Given the description of an element on the screen output the (x, y) to click on. 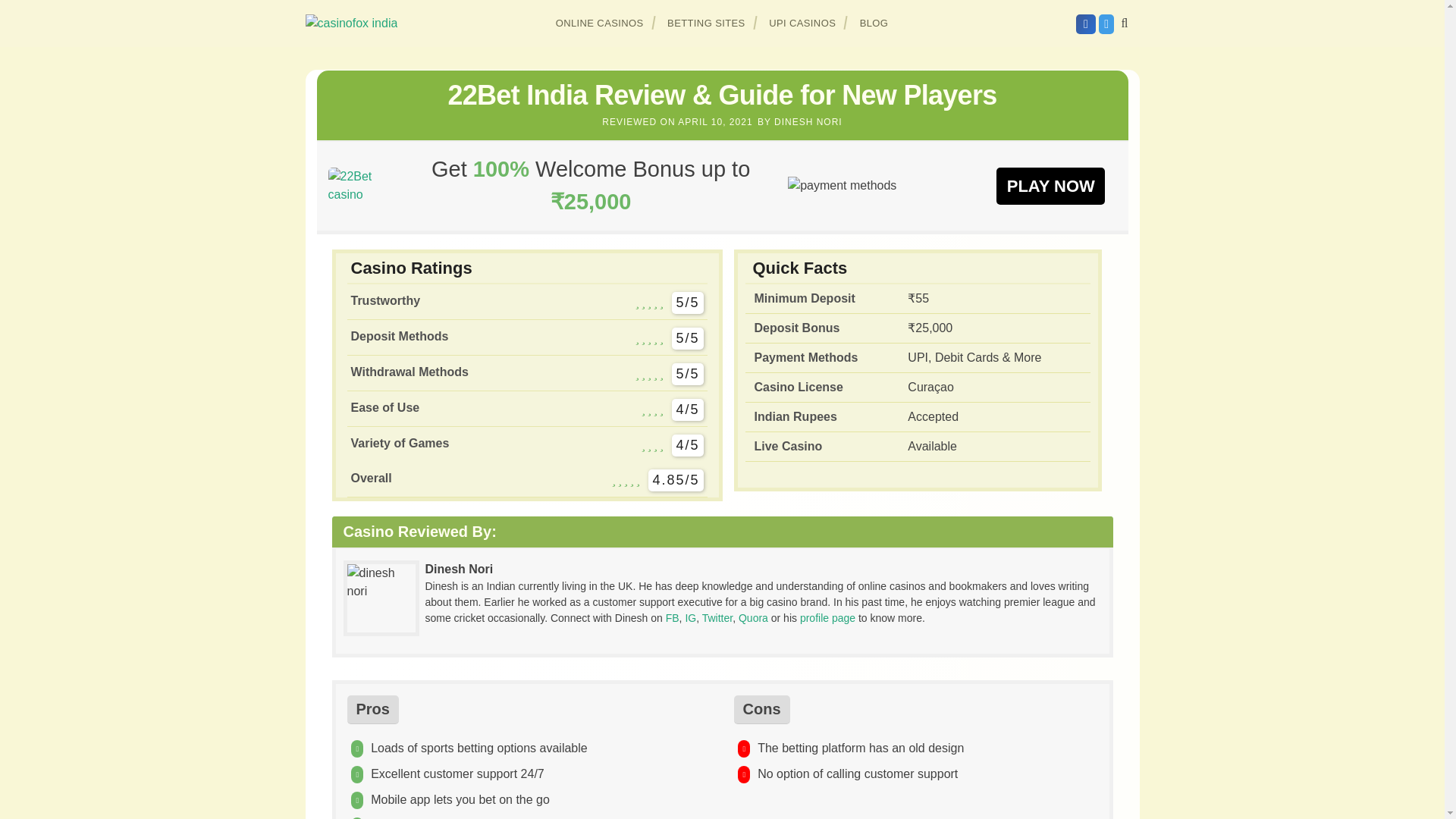
BETTING SITES (706, 23)
ONLINE CASINOS (599, 23)
FB (672, 617)
22Bet (360, 185)
Quora (753, 617)
profile page (827, 617)
UPI CASINOS (801, 23)
BLOG (874, 23)
22Bet (1050, 185)
Twitter (716, 617)
